Given the description of an element on the screen output the (x, y) to click on. 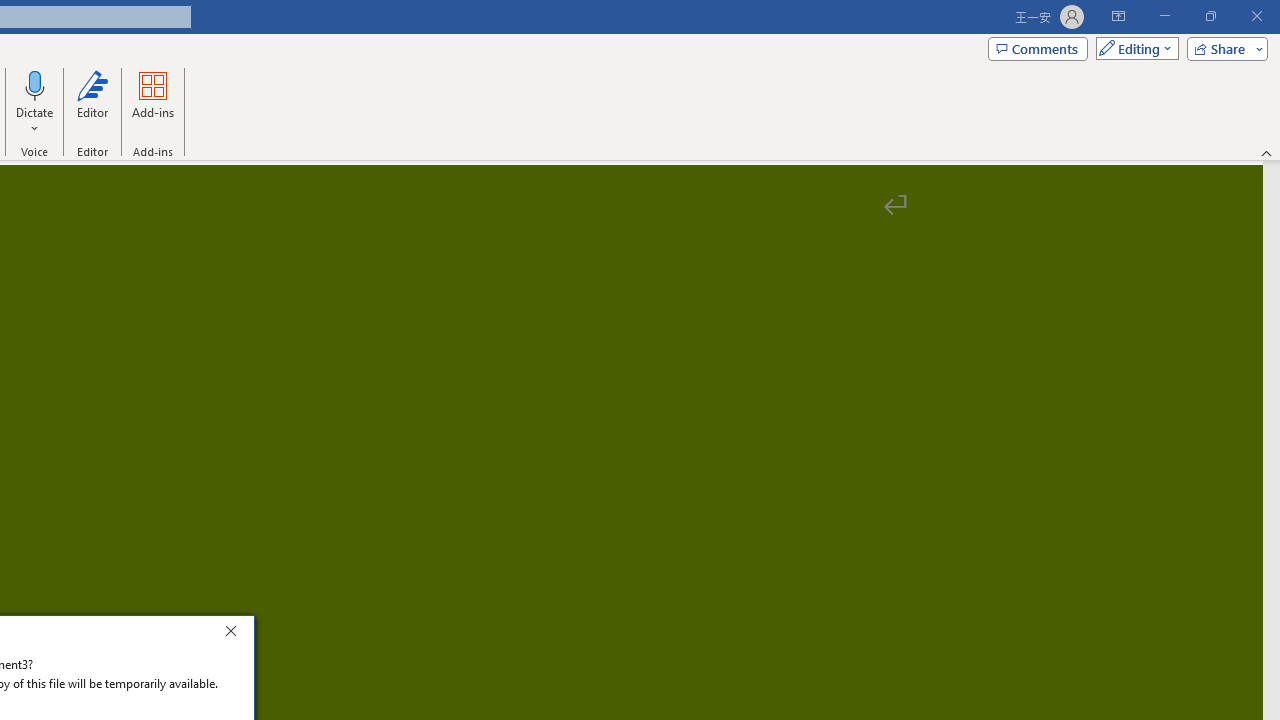
Comments (1038, 48)
Share (1223, 48)
Mode (1133, 47)
Close (236, 633)
More Options (35, 121)
Ribbon Display Options (1118, 16)
Editor (92, 102)
Dictate (35, 84)
Minimize (1164, 16)
Collapse the Ribbon (1267, 152)
Restore Down (1210, 16)
Dictate (35, 102)
